Given the description of an element on the screen output the (x, y) to click on. 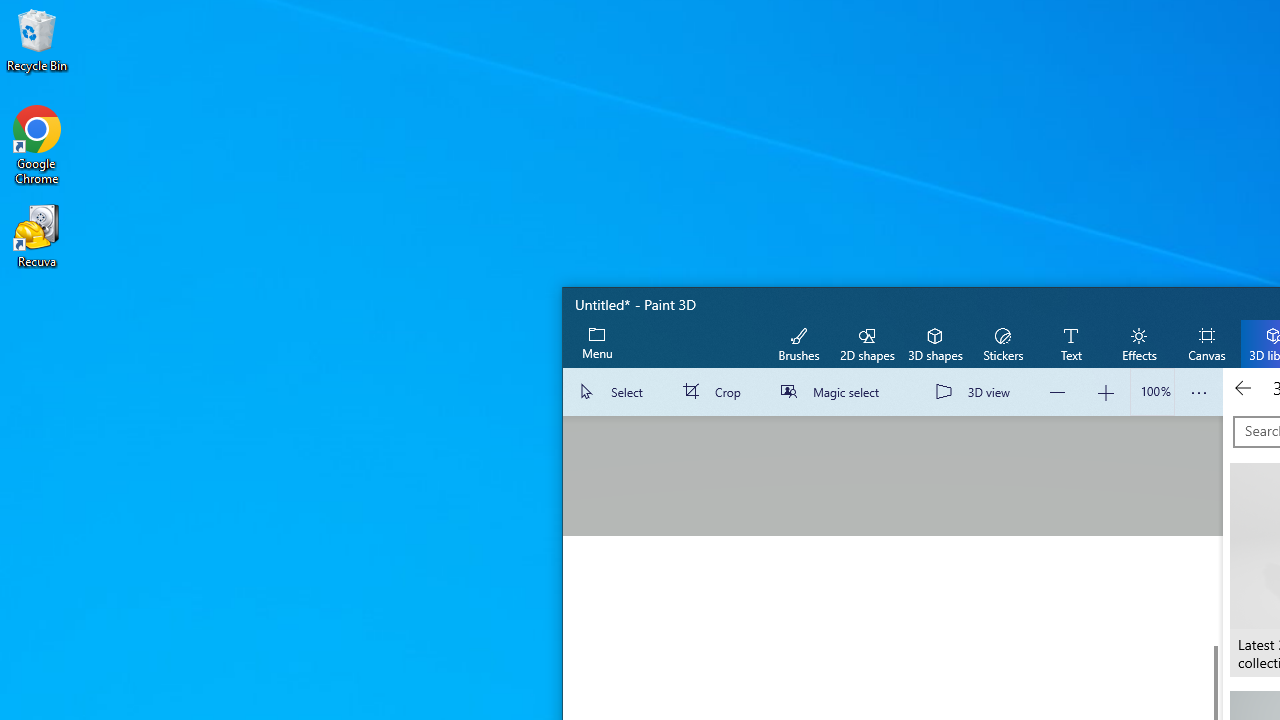
Brushes (799, 343)
Expand menu (597, 343)
Effects (1138, 343)
